Given the description of an element on the screen output the (x, y) to click on. 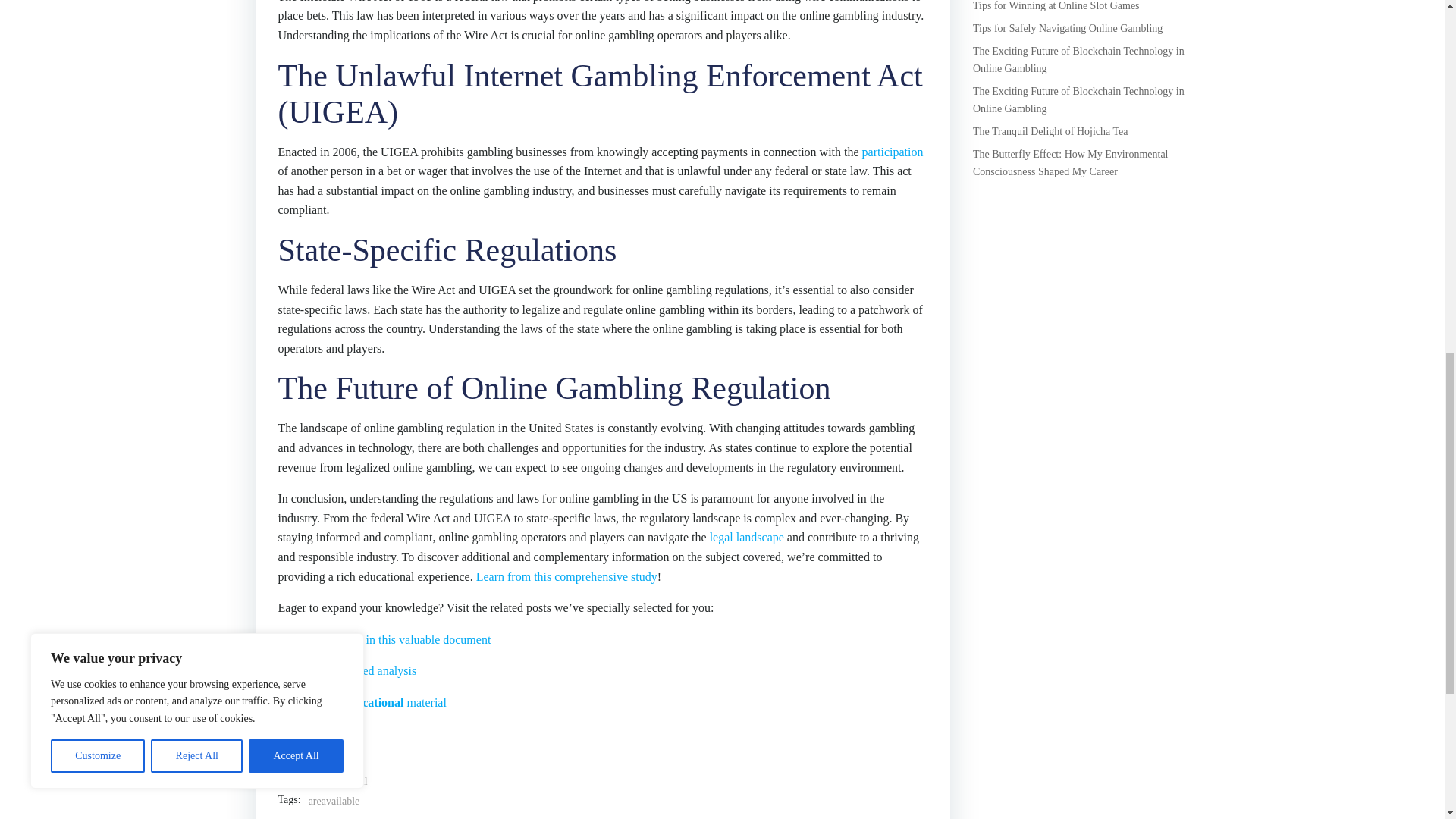
Learn from this comprehensive study (567, 576)
areavailable Tag (333, 801)
Explore this educational material (361, 702)
areavailable (333, 801)
Find more details in this valuable document (384, 639)
General (349, 781)
legal landscape (747, 536)
participation (892, 151)
Review here (307, 734)
Access this detailed analysis (347, 670)
